Given the description of an element on the screen output the (x, y) to click on. 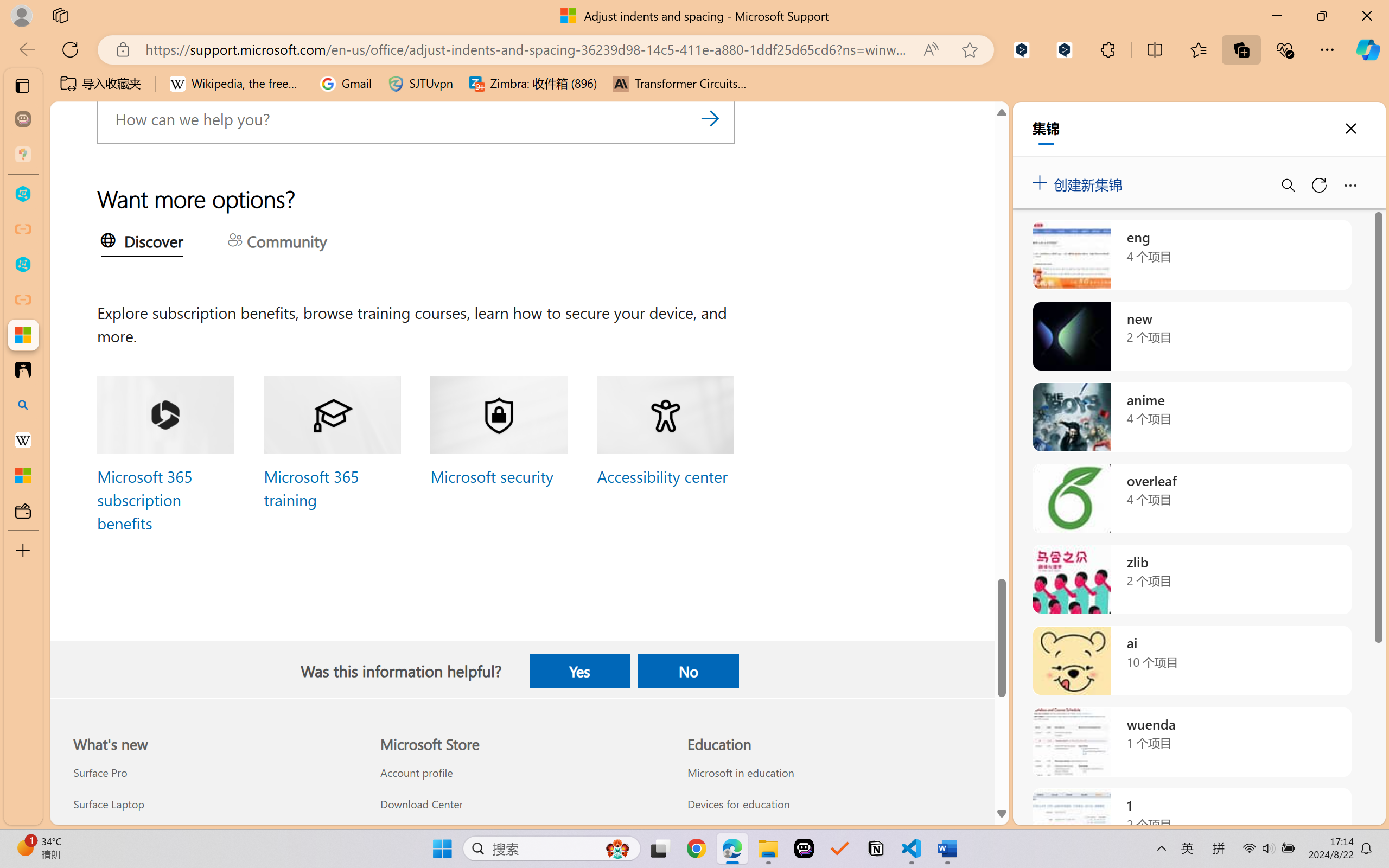
Surface Laptop Studio 2 (214, 835)
Discover (141, 243)
